Given the description of an element on the screen output the (x, y) to click on. 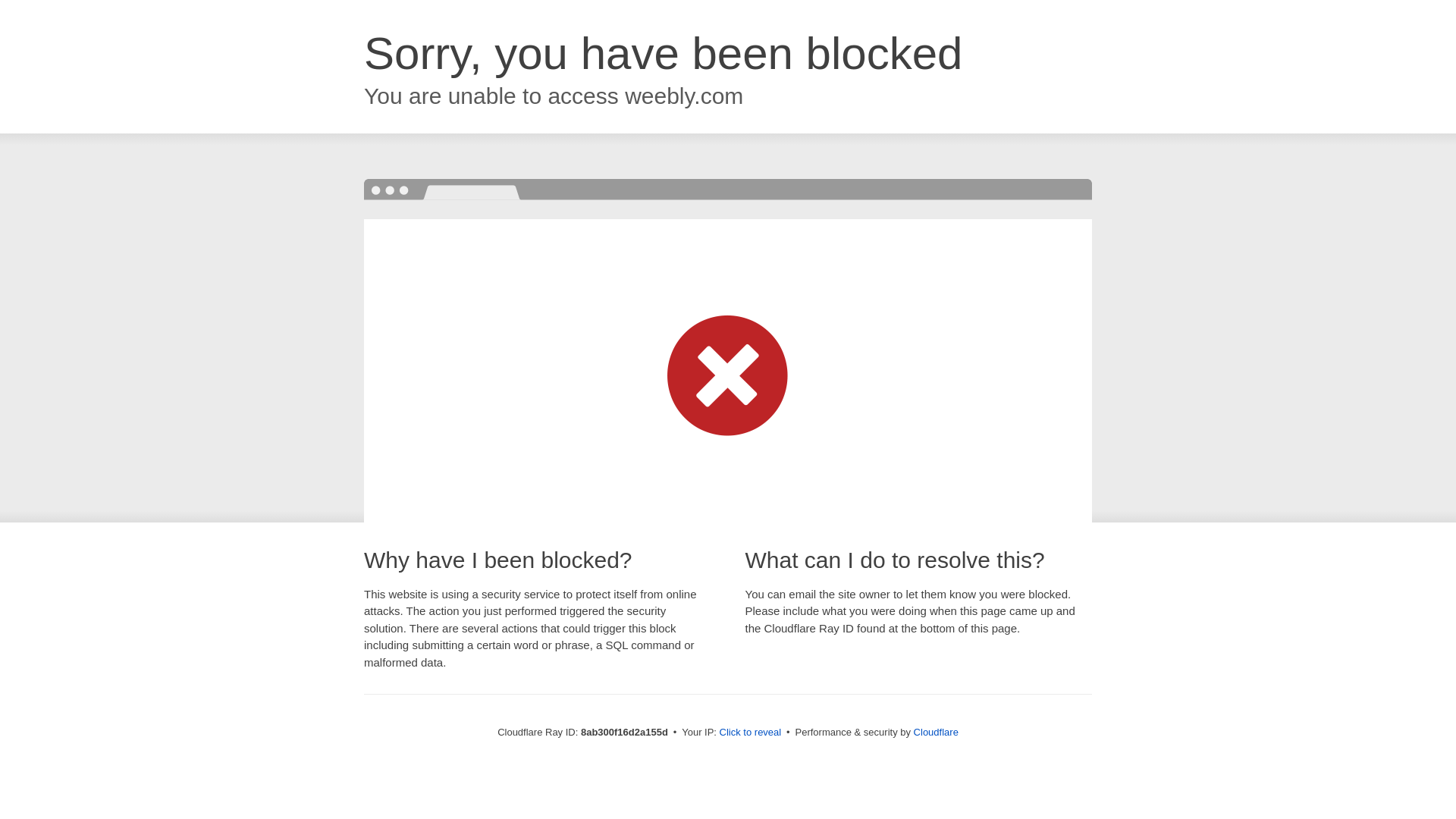
Cloudflare (936, 731)
Click to reveal (750, 732)
